Given the description of an element on the screen output the (x, y) to click on. 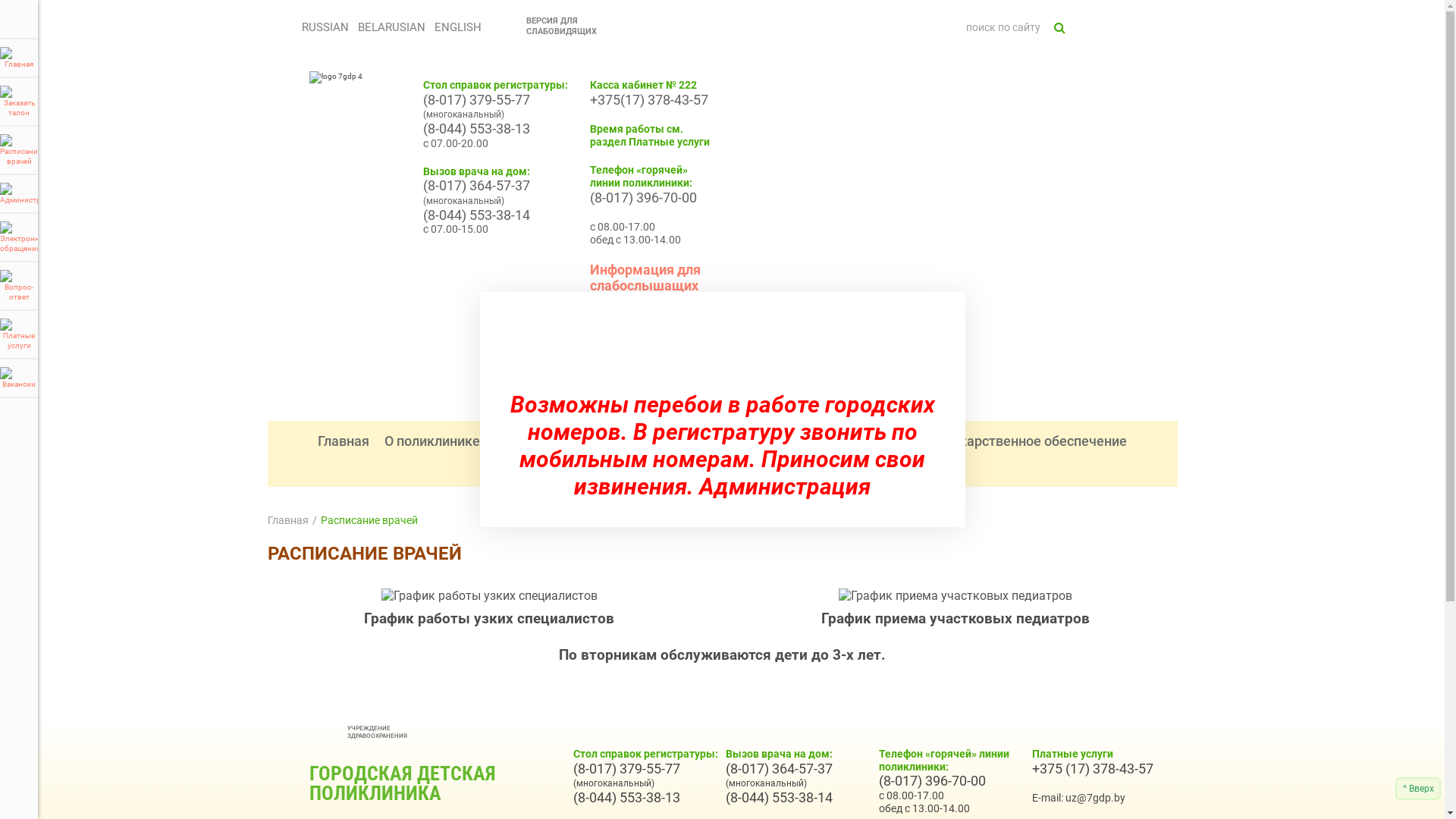
BELARUSIAN Element type: text (390, 26)
ENGLISH Element type: text (457, 26)
RUSSIAN Element type: text (324, 26)
